Given the description of an element on the screen output the (x, y) to click on. 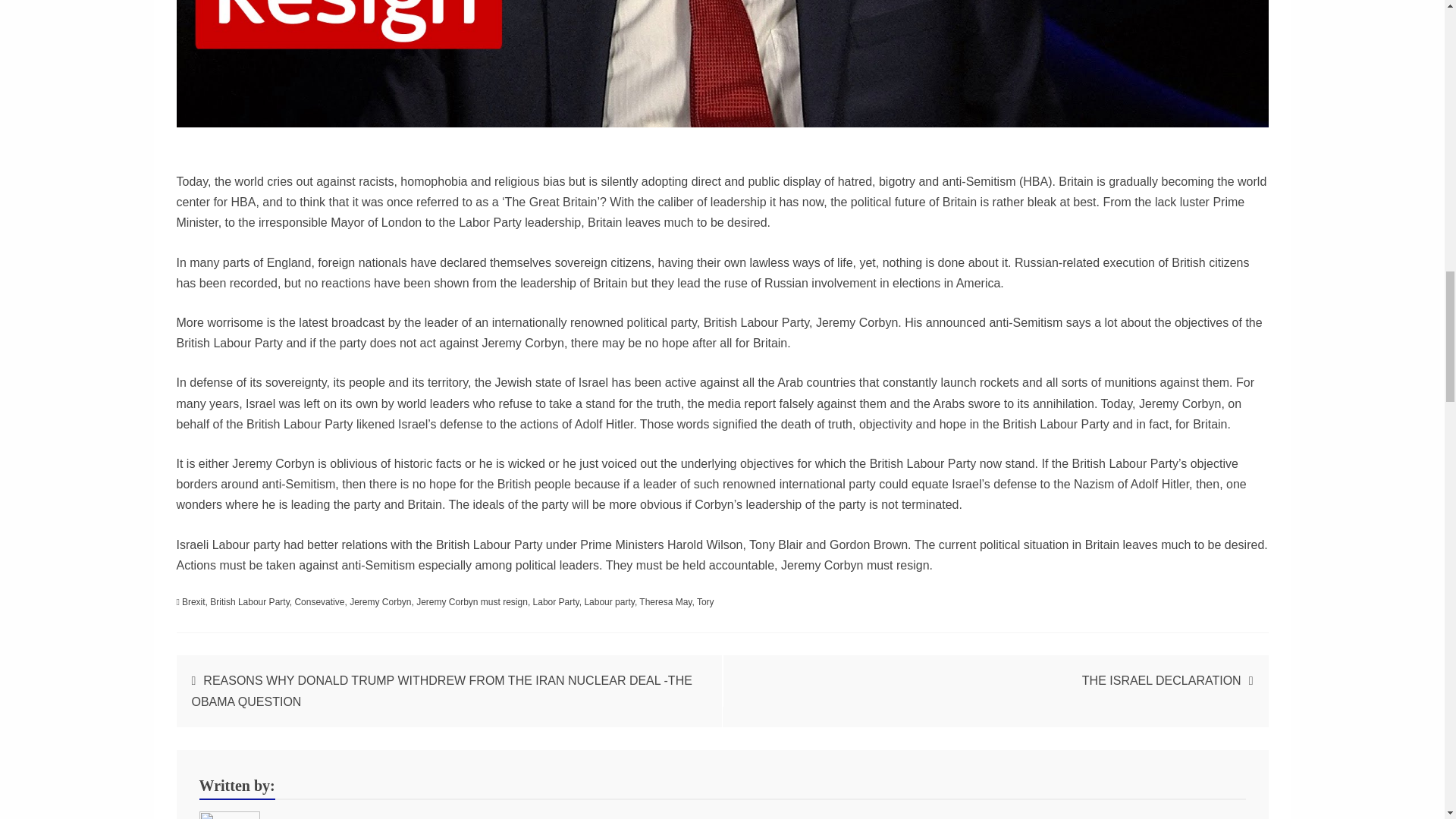
Jeremy Corbyn must resign (471, 602)
Labour party (608, 602)
Jeremy Corbyn (379, 602)
Brexit (193, 602)
Theresa May (665, 602)
Posts by civilrights (313, 817)
British Labour Party (249, 602)
civilrights (313, 817)
Consevative (318, 602)
Labor Party (555, 602)
THE ISRAEL DECLARATION (1161, 680)
Tory (705, 602)
